Given the description of an element on the screen output the (x, y) to click on. 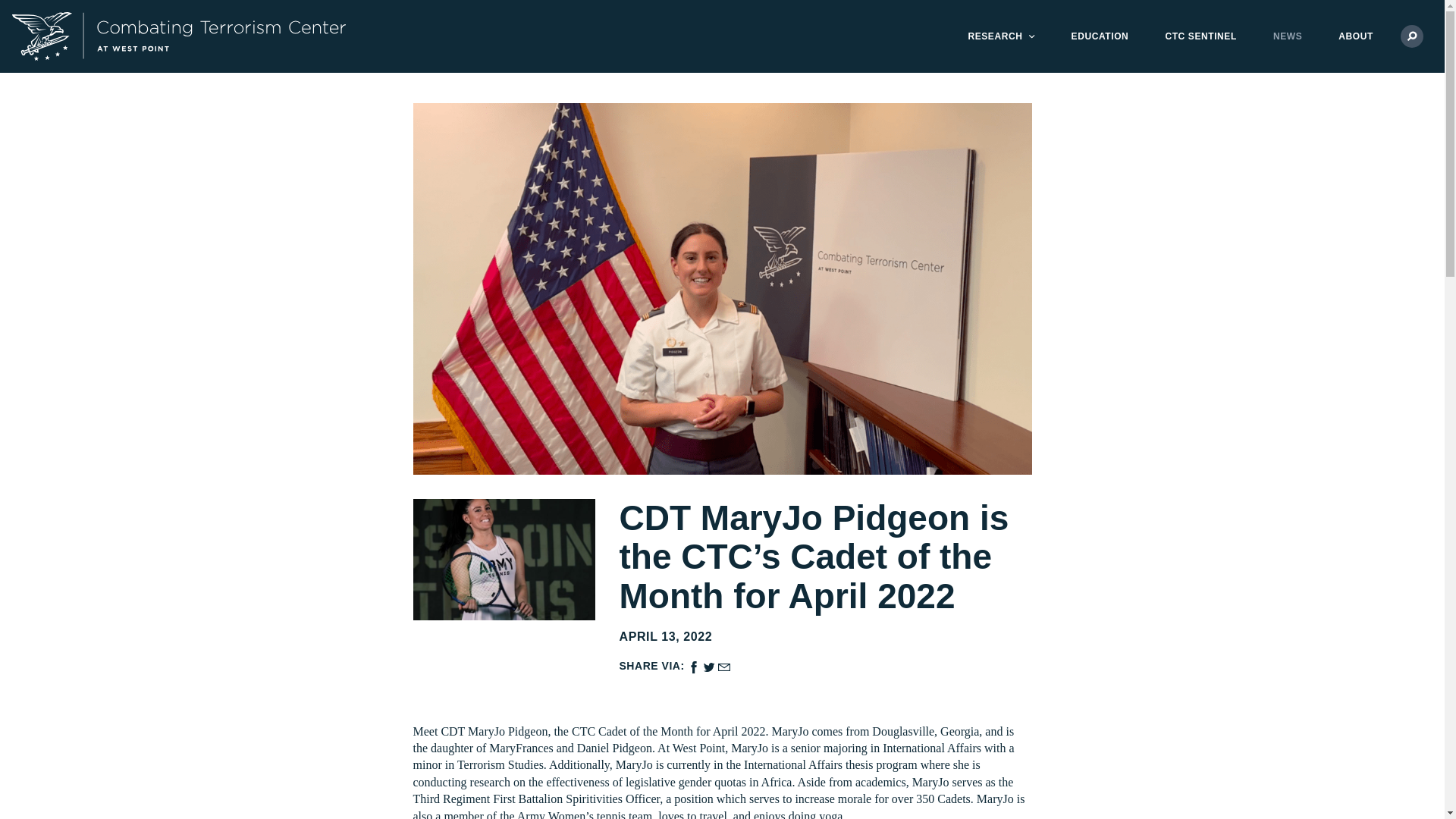
RESEARCH (995, 36)
Combating Terrorism Center Logo (1190, 36)
